Given the description of an element on the screen output the (x, y) to click on. 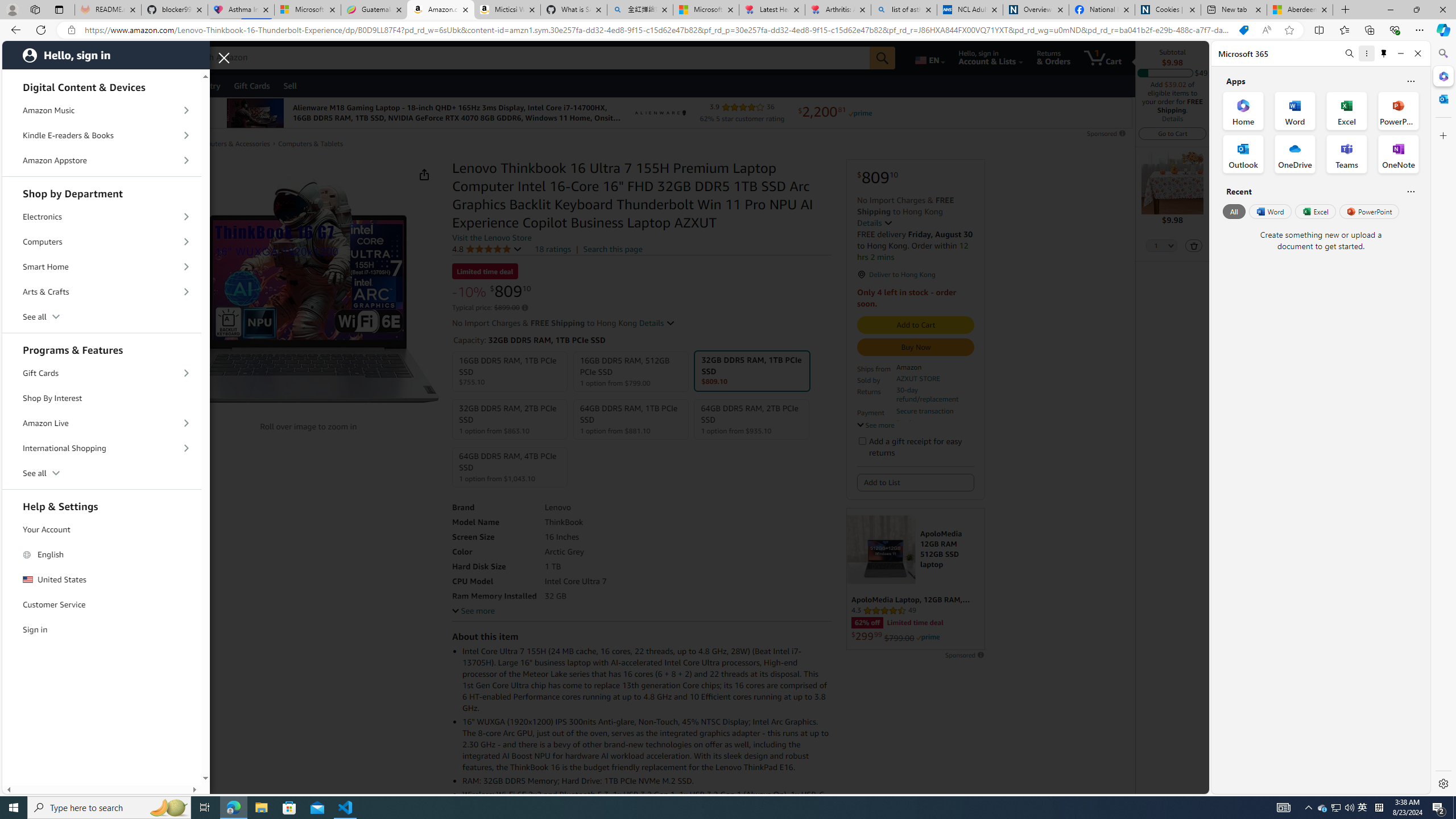
Details (1172, 118)
Aberdeen, Hong Kong SAR hourly forecast | Microsoft Weather (1300, 9)
1 item in cart (1102, 57)
See all (101, 473)
Shop by Department (101, 191)
